Given the description of an element on the screen output the (x, y) to click on. 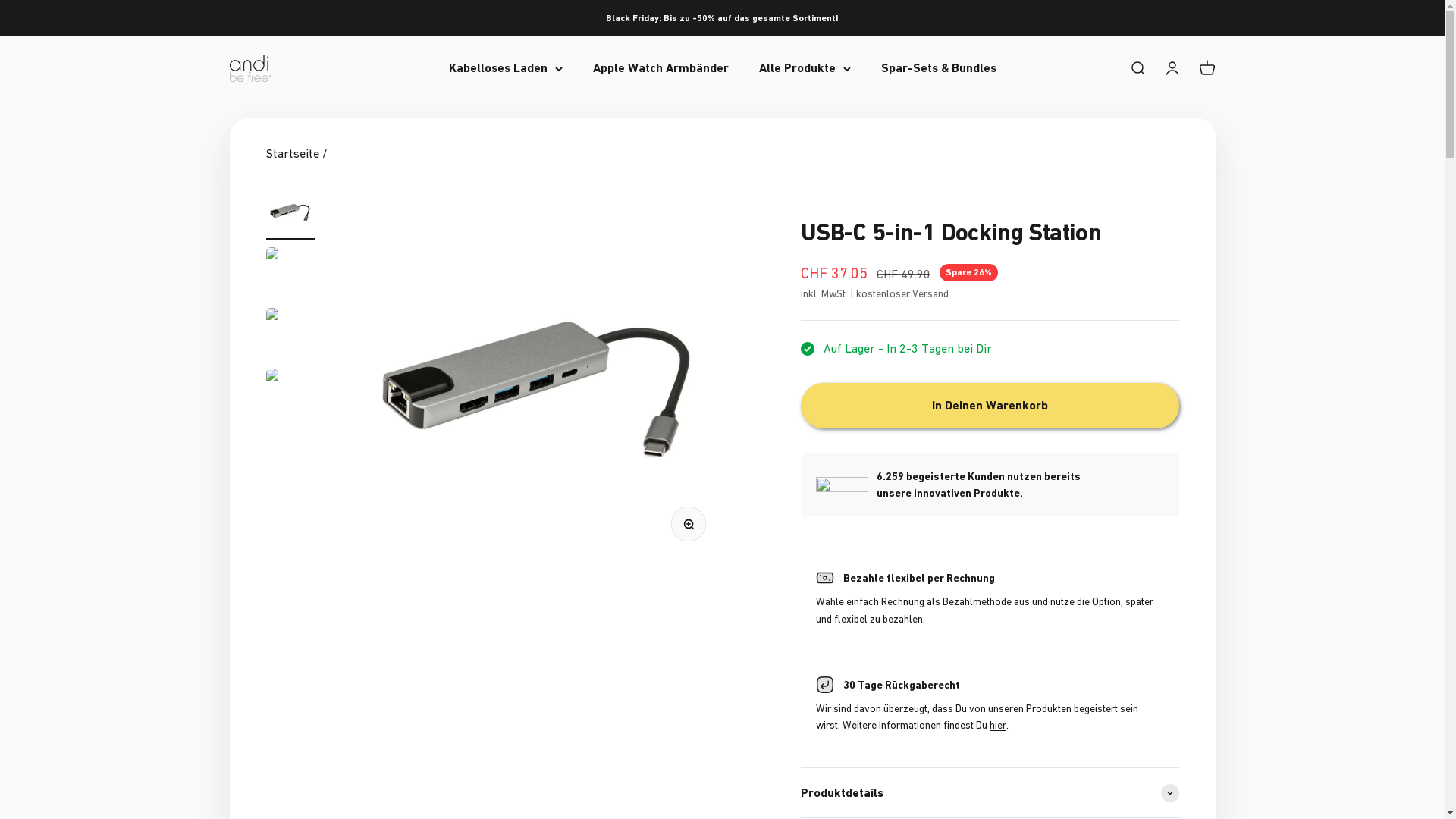
Spar-Sets & Bundles Element type: text (938, 68)
Startseite Element type: text (291, 153)
andi be free Element type: text (249, 67)
Black Friday: Bis zu -50% auf das gesamte Sortiment! Element type: text (721, 17)
hier Element type: text (997, 724)
In Deinen Warenkorb Element type: text (989, 405)
